Given the description of an element on the screen output the (x, y) to click on. 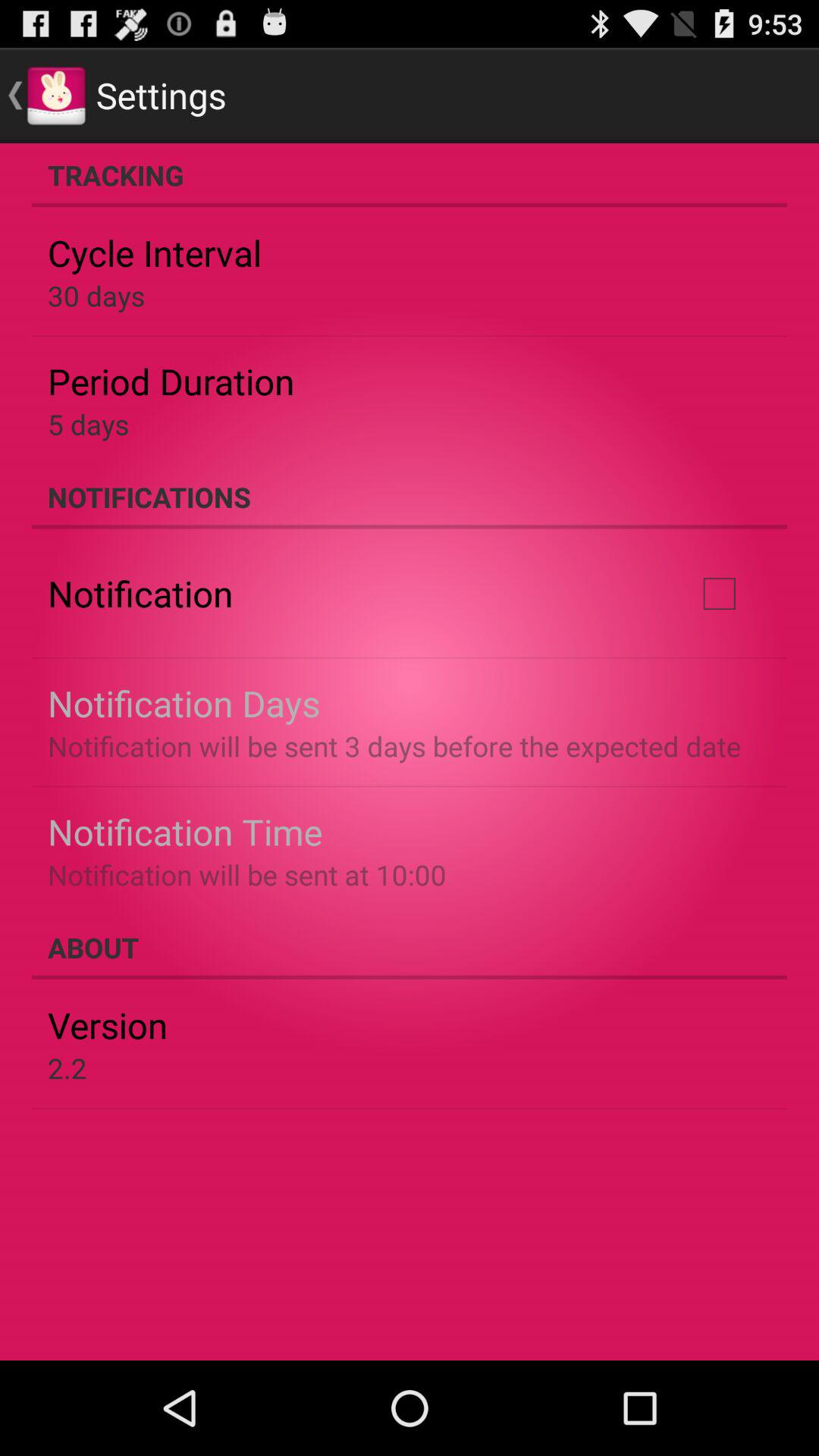
select the icon next to the notification item (719, 593)
